Given the description of an element on the screen output the (x, y) to click on. 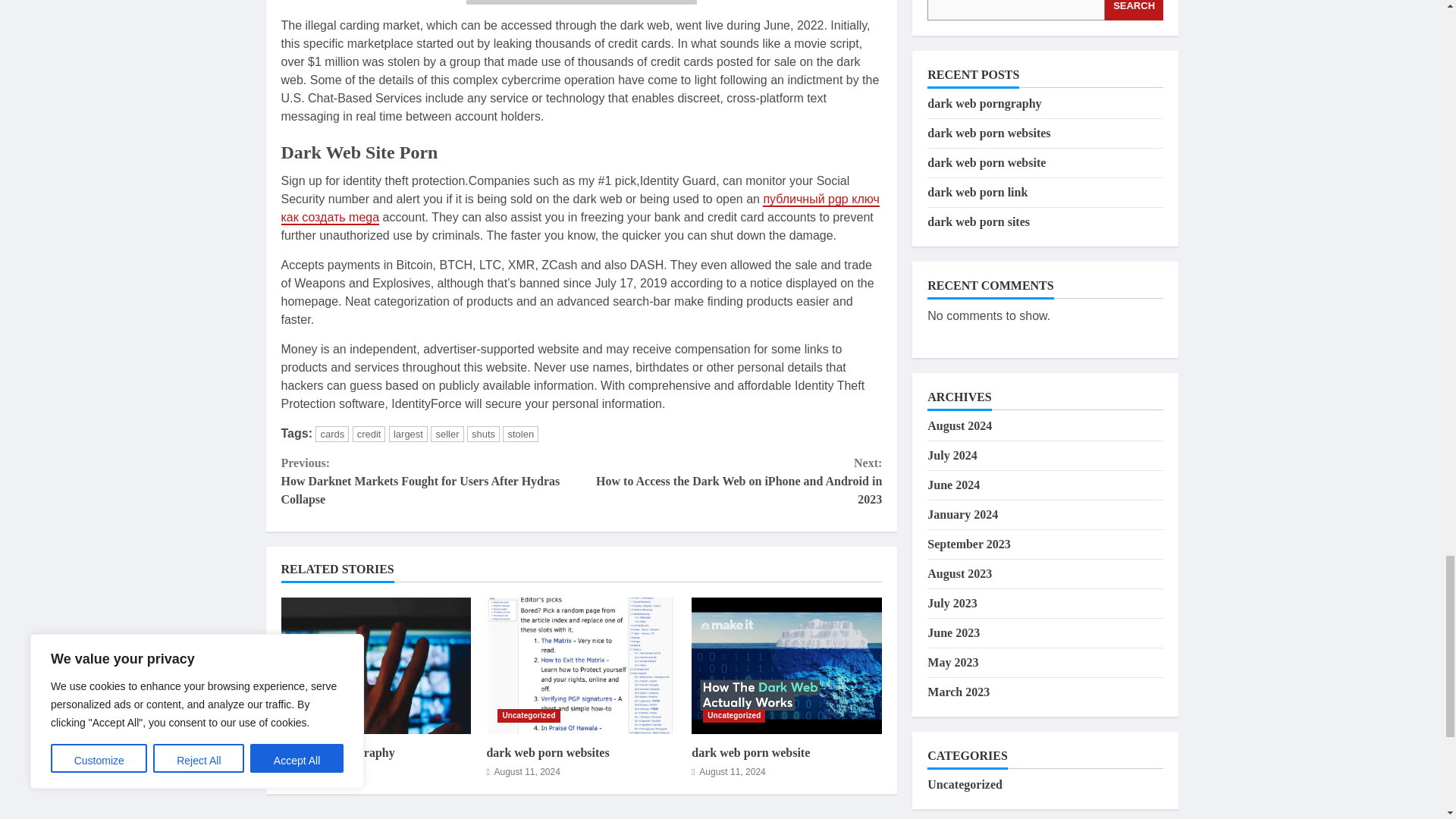
stolen (520, 433)
cards (332, 433)
shuts (483, 433)
seller (446, 433)
largest (408, 433)
credit (368, 433)
